Given the description of an element on the screen output the (x, y) to click on. 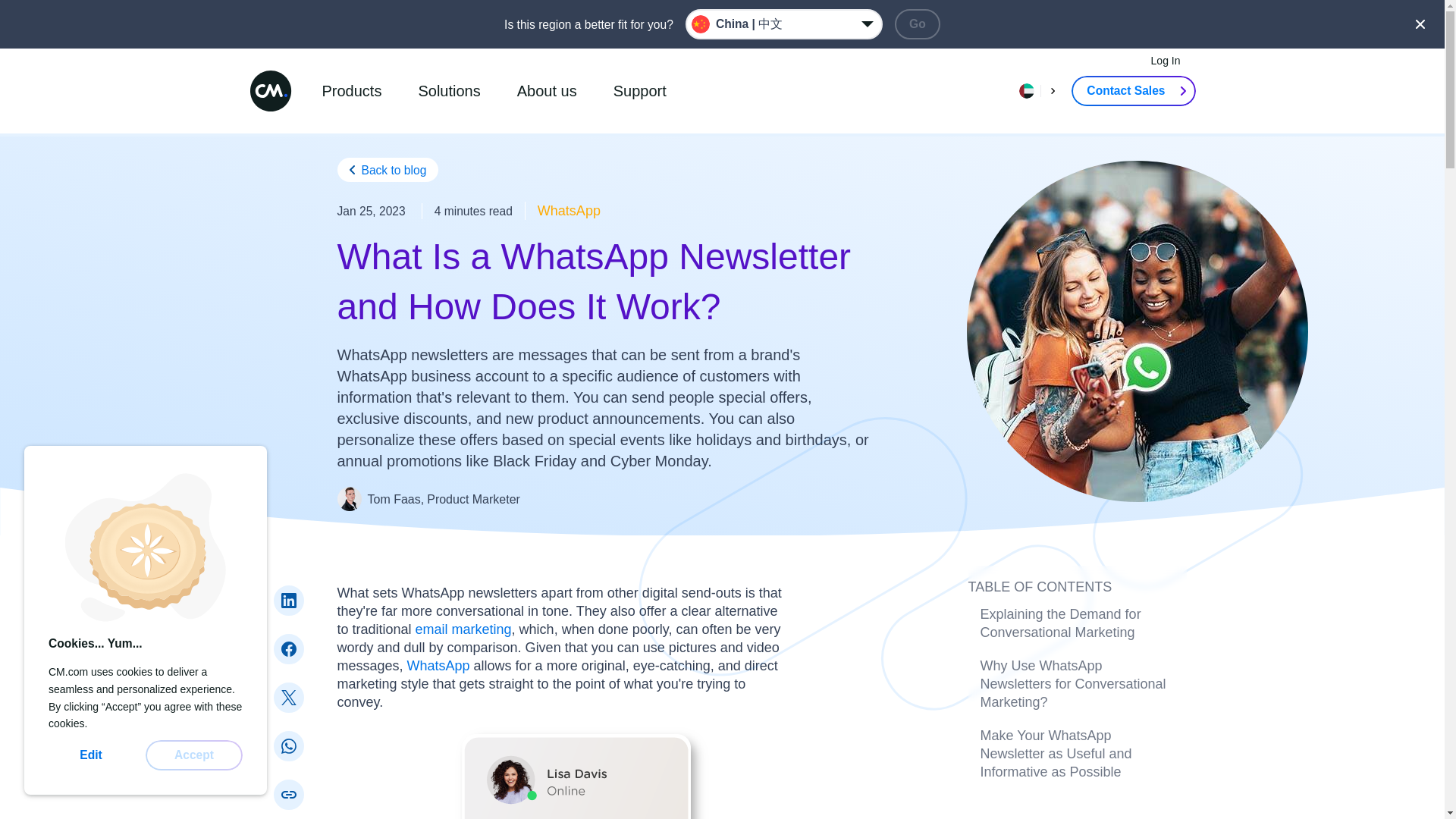
logo linkedin icon (288, 600)
logo x icon (288, 697)
CM.com (269, 90)
logo facebook icon (288, 648)
Products (351, 90)
Log In (1165, 60)
copy icon (288, 794)
Solutions (449, 90)
logo whatsapp icon (288, 745)
About us (547, 90)
